Given the description of an element on the screen output the (x, y) to click on. 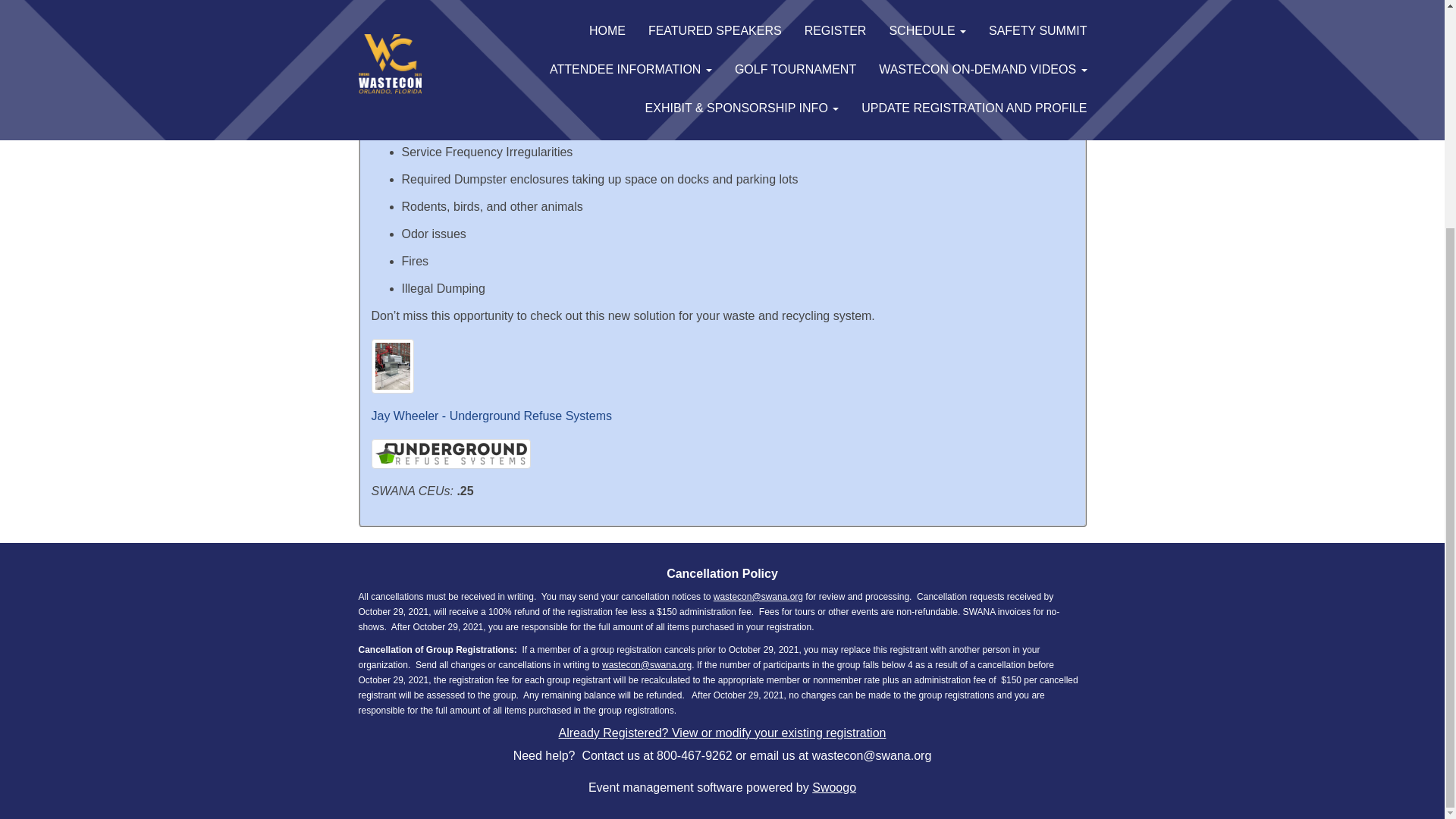
Speaker Details (491, 415)
Jay Wheeler - Underground Refuse Systems (491, 415)
